Given the description of an element on the screen output the (x, y) to click on. 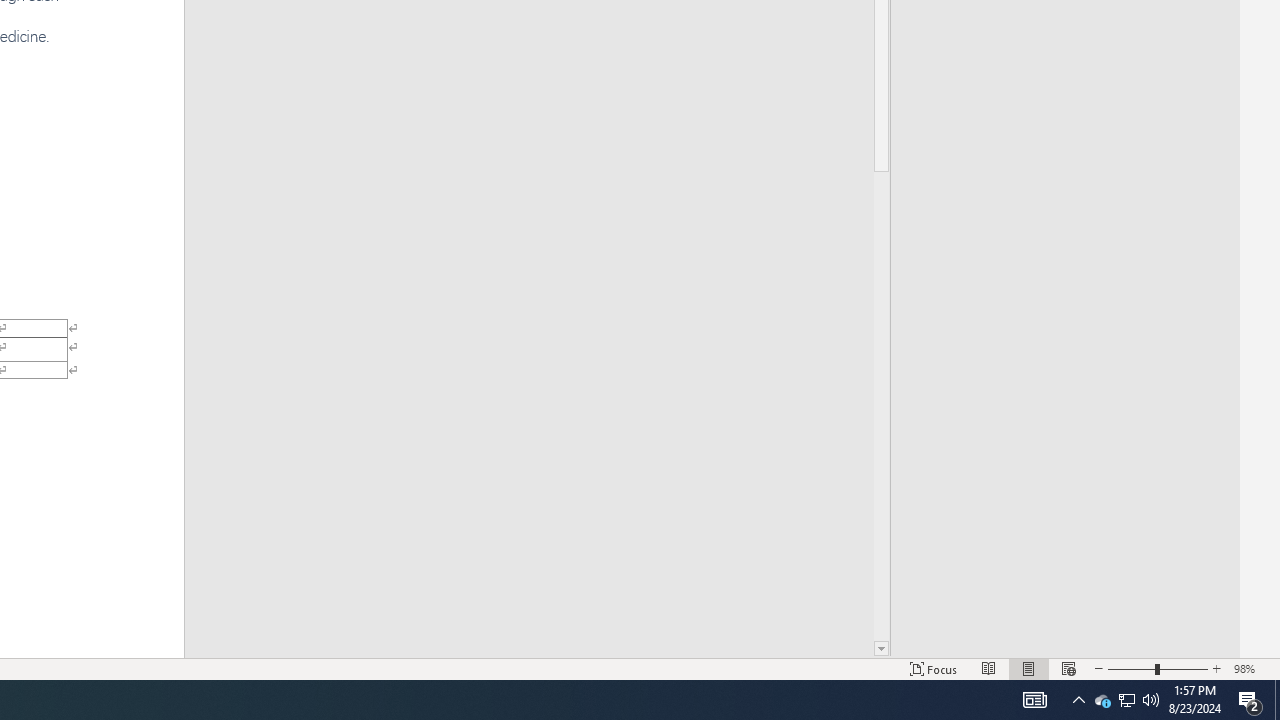
Focus  (934, 668)
Zoom In (1217, 668)
Zoom Out (1131, 668)
Zoom (1158, 668)
